Given the description of an element on the screen output the (x, y) to click on. 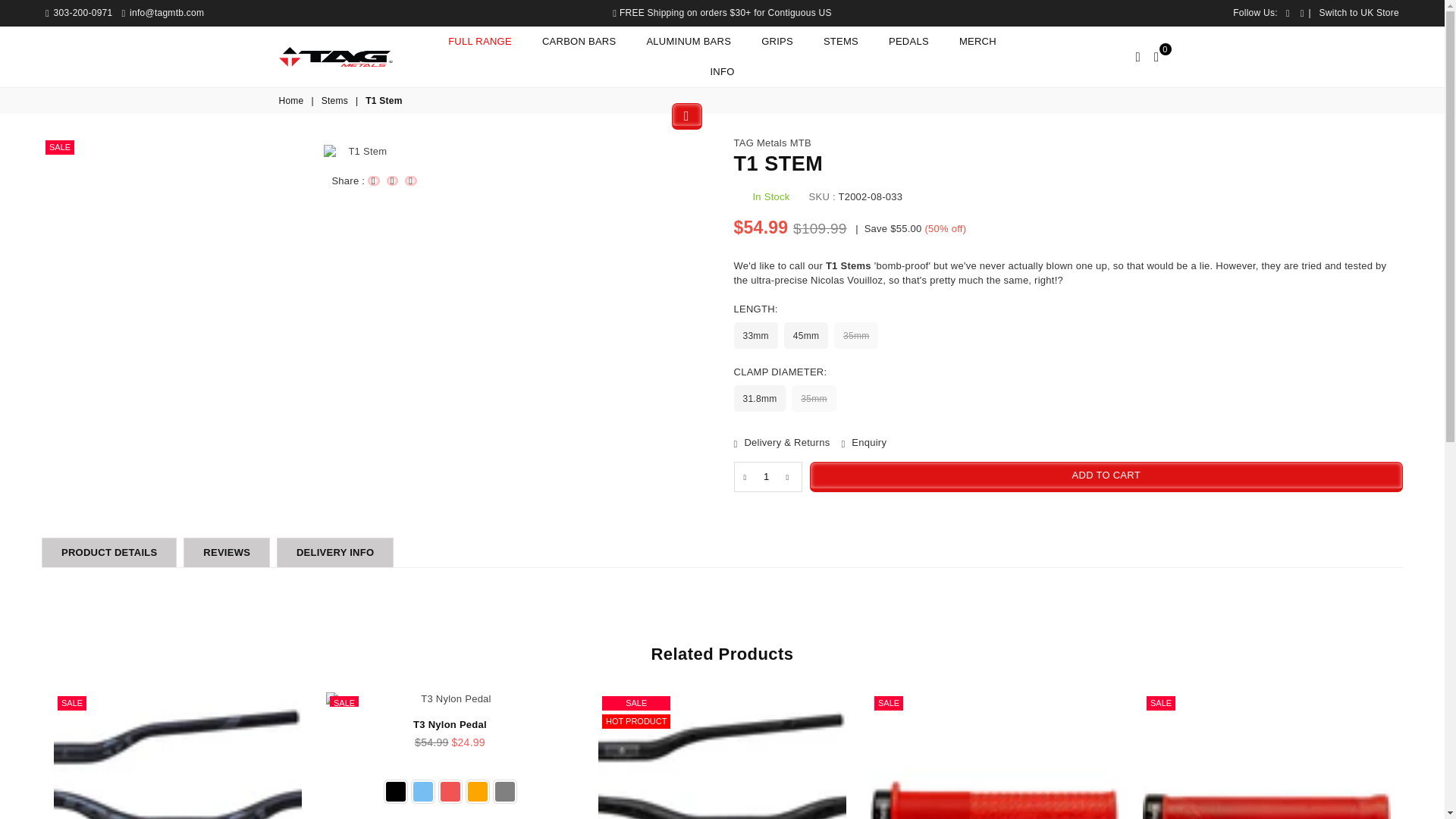
CARBON BARS (579, 41)
TAG Metals MTB (771, 142)
Cart (1156, 56)
STEMS (840, 41)
ALUMINUM BARS (688, 41)
Grey (504, 791)
Share on Facebook (374, 180)
Share by Email (410, 180)
303-200-0971 (78, 12)
MERCH (977, 41)
Switch to UK Store (1359, 12)
Tweet on Twitter (392, 180)
Instagram (1301, 13)
TAG Metals MTB US on Facebook (1288, 13)
Orange (476, 791)
